Given the description of an element on the screen output the (x, y) to click on. 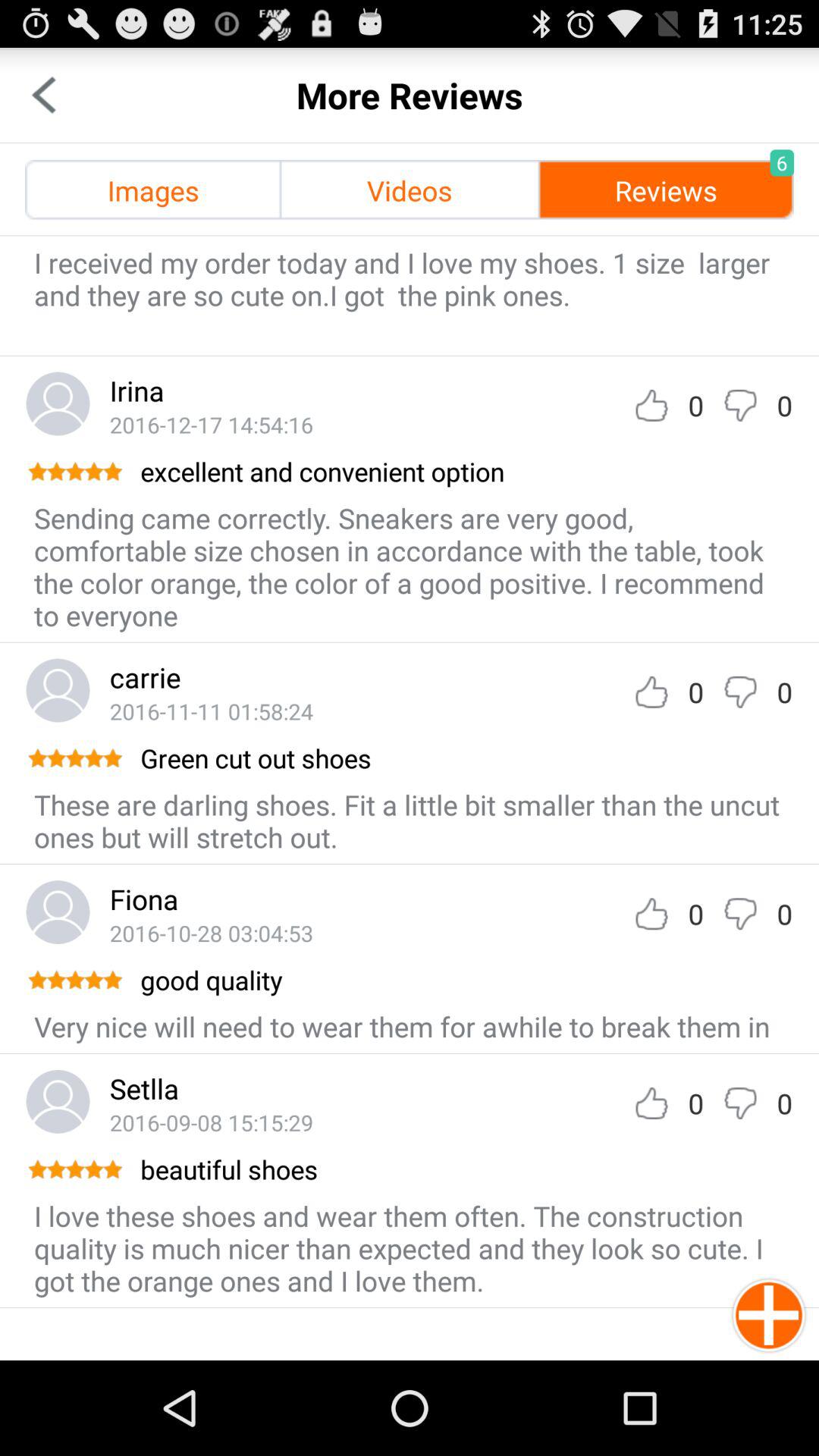
select icon above the 2016 10 28 item (143, 898)
